Given the description of an element on the screen output the (x, y) to click on. 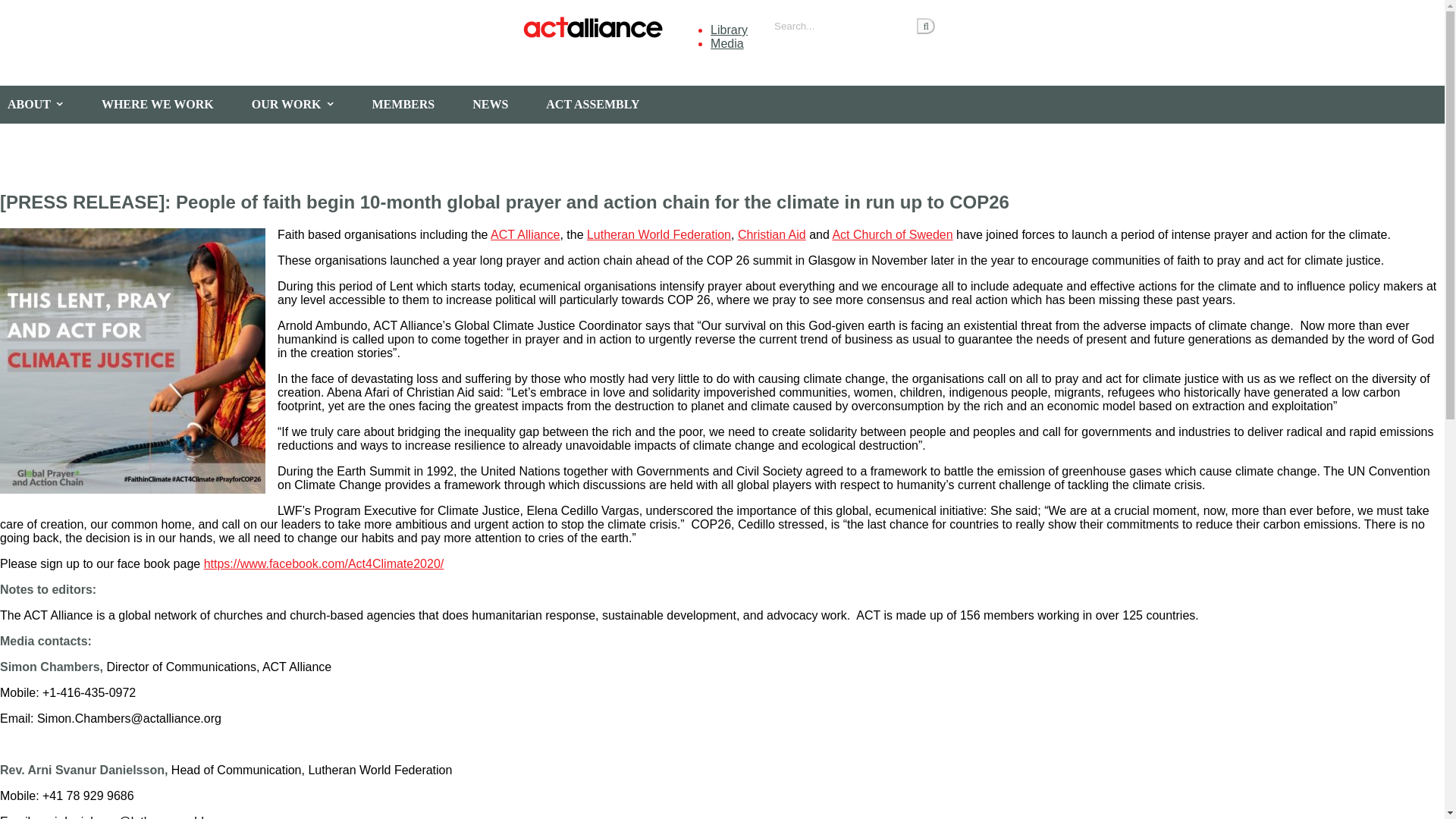
NEWS (501, 104)
ACT Alliance (524, 234)
MEMBERS (415, 104)
Act Church of Sweden (891, 234)
ABOUT (47, 104)
WHERE WE WORK (169, 104)
Library (729, 29)
Christian Aid (772, 234)
Lutheran World Federation (658, 234)
ACT ASSEMBLY (603, 104)
Media (727, 42)
OUR WORK (304, 104)
